Given the description of an element on the screen output the (x, y) to click on. 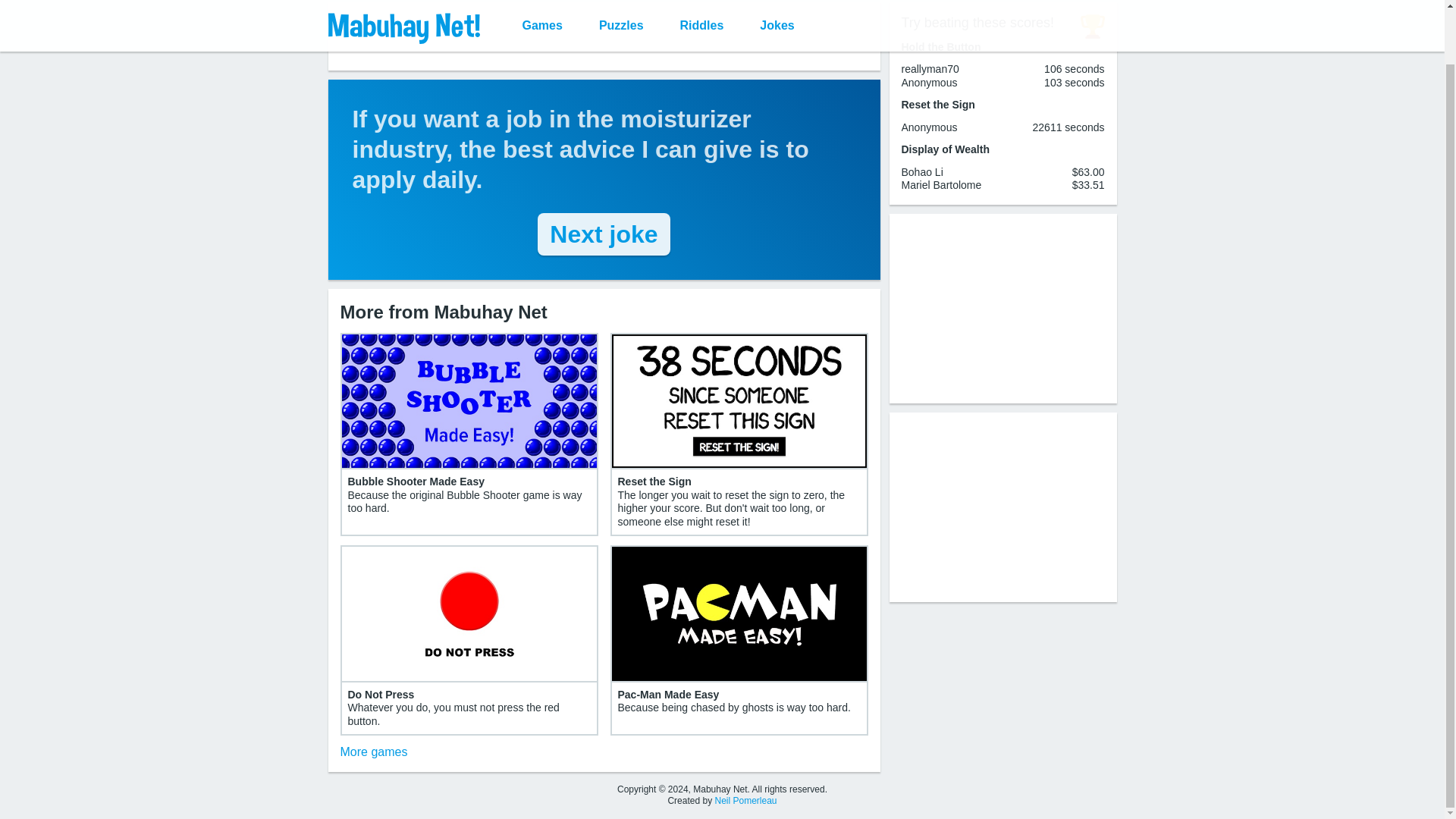
Pac-Man Made Easy (668, 694)
Do Not Press (380, 694)
Reset the Sign (937, 104)
Display of Wealth (944, 149)
Advertisement (603, 36)
Hold the Button (940, 46)
Advertisement (1002, 307)
Advertisement (1002, 506)
Neil Pomerleau (745, 800)
More games (373, 751)
